Given the description of an element on the screen output the (x, y) to click on. 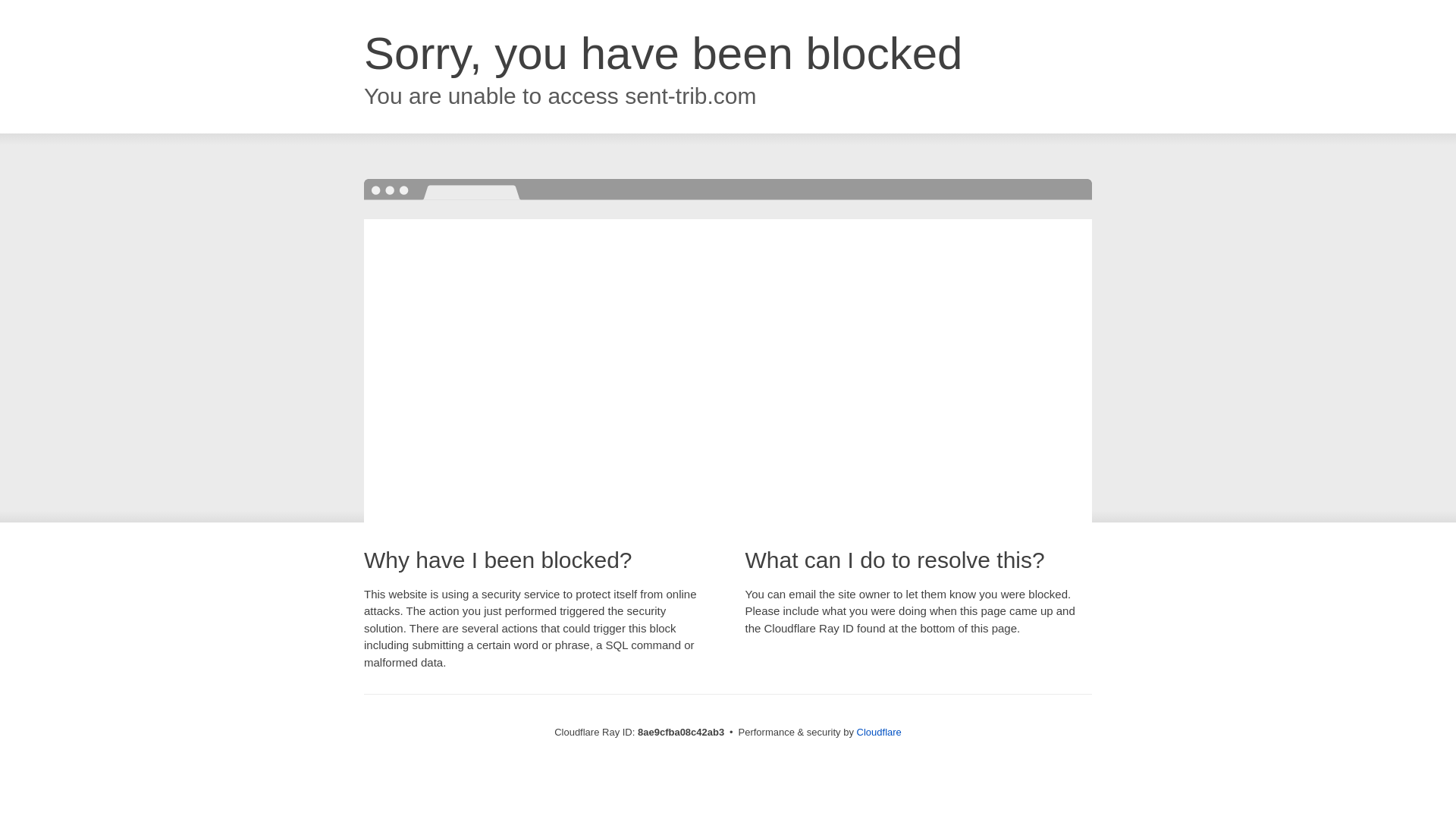
Cloudflare (879, 731)
